Given the description of an element on the screen output the (x, y) to click on. 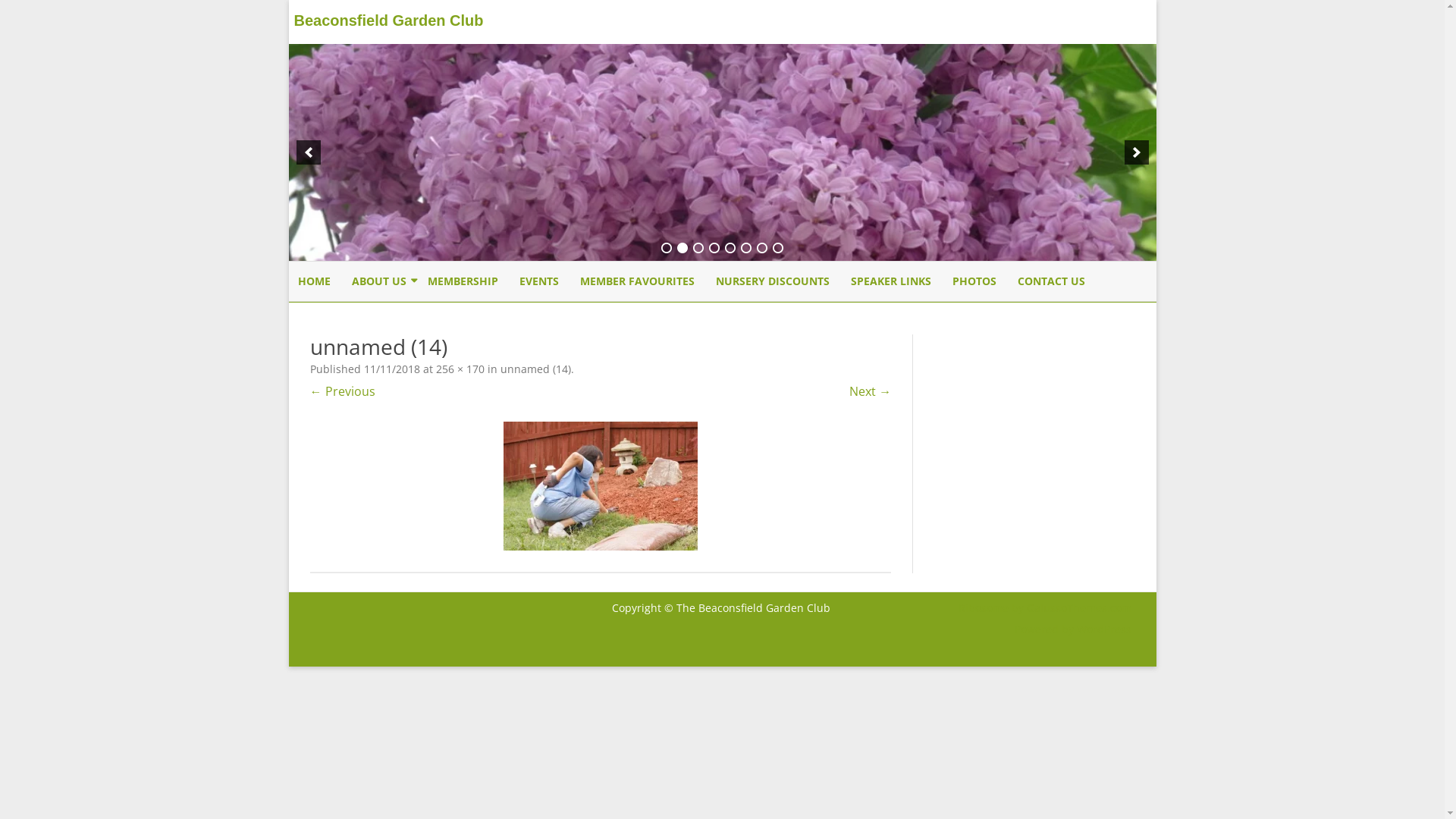
unnamed (14) Element type: hover (600, 485)
PHOTOS Element type: text (974, 281)
unnamed (14) Element type: text (535, 368)
Beaconsfield Garden Club Element type: text (386, 46)
MEMBER FAVOURITES Element type: text (636, 281)
MEMBERSHIP Element type: text (462, 281)
ABOUT US Element type: text (378, 281)
Ribosome Element type: text (983, 607)
SPEAKER LINKS Element type: text (890, 281)
NURSERY DISCOUNTS Element type: text (772, 281)
CONTACT US Element type: text (1051, 281)
EVENTS Element type: text (538, 281)
Skip to content Element type: text (721, 260)
MEMBERSHIP Element type: text (427, 316)
HOME Element type: text (313, 281)
WordPress Element type: text (1102, 628)
